Given the description of an element on the screen output the (x, y) to click on. 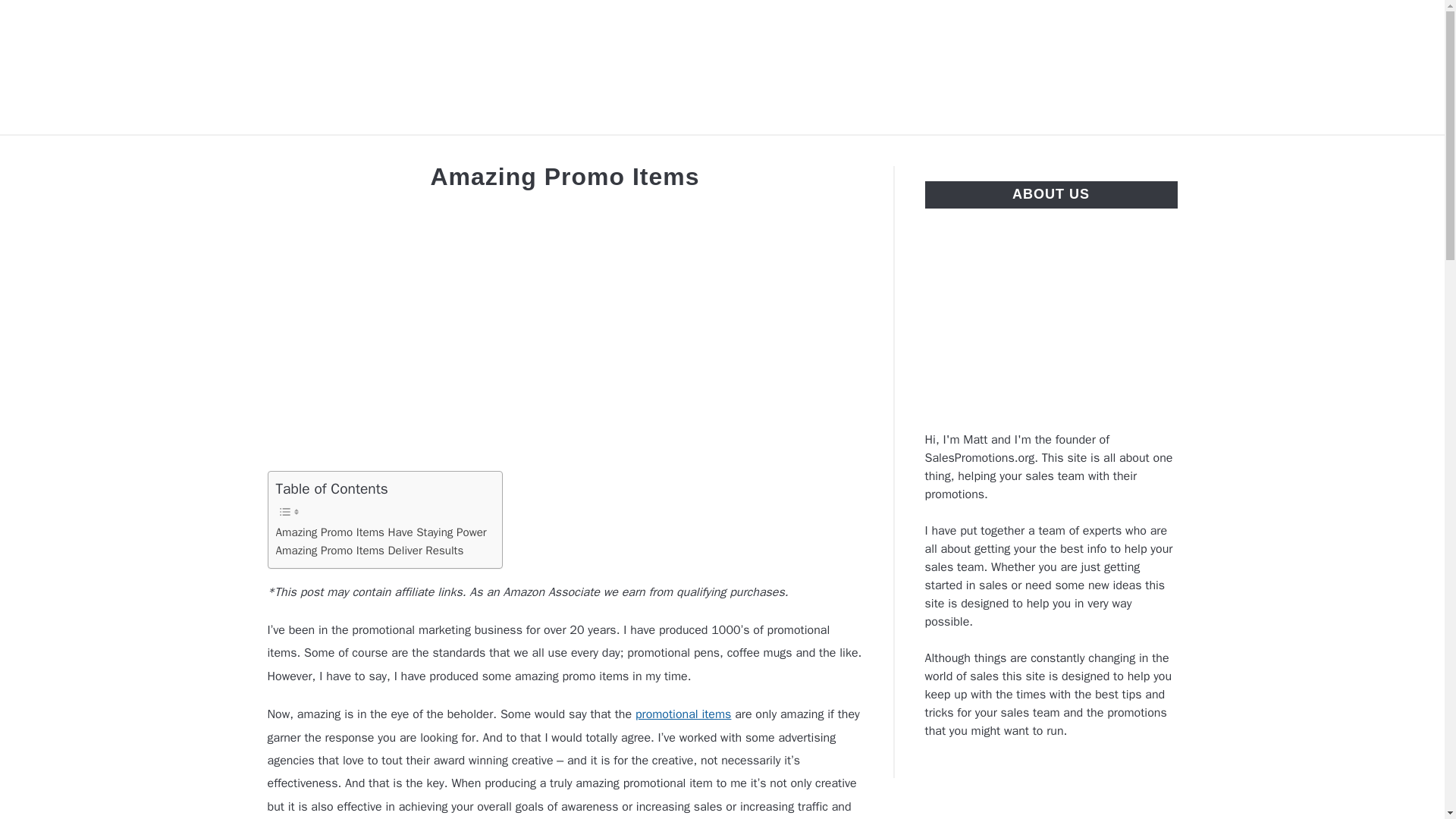
promotional items (683, 713)
Amazing Promo Items Deliver Results (370, 550)
EXAMPLES (335, 152)
Amazing Promo Items Have Staying Power (381, 532)
Search (1203, 67)
SALES PROMOTION STRATEGIES (1034, 152)
Amazing Promo Items Deliver Results (370, 550)
INCENTIVES (443, 152)
MARKETING STRATEGIES (807, 152)
Amazing Promo Items Have Staying Power (381, 532)
MARKETING PROMOTIONS (603, 152)
